Given the description of an element on the screen output the (x, y) to click on. 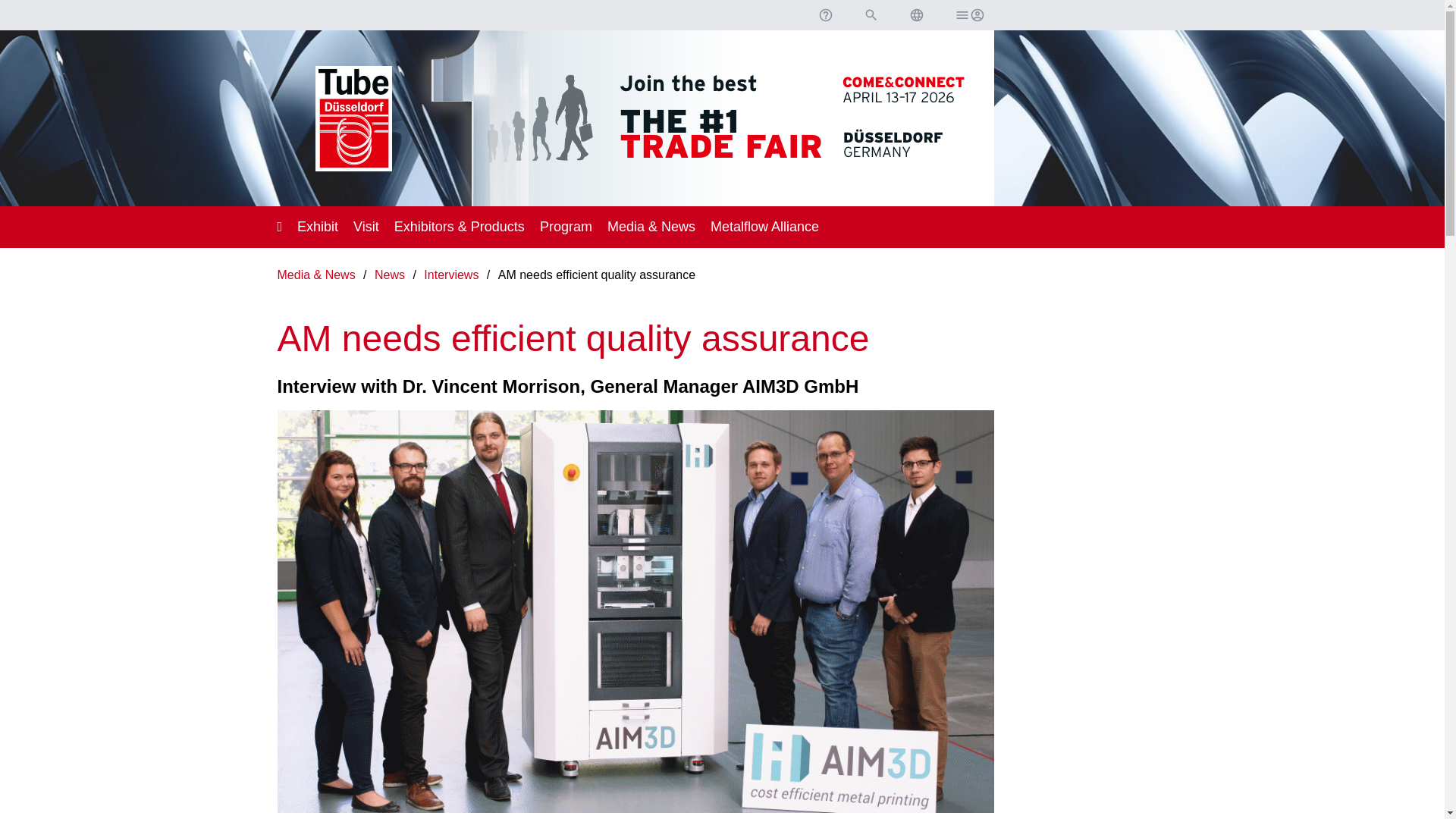
Search (870, 14)
Login (968, 14)
English (915, 14)
Support (824, 14)
